Given the description of an element on the screen output the (x, y) to click on. 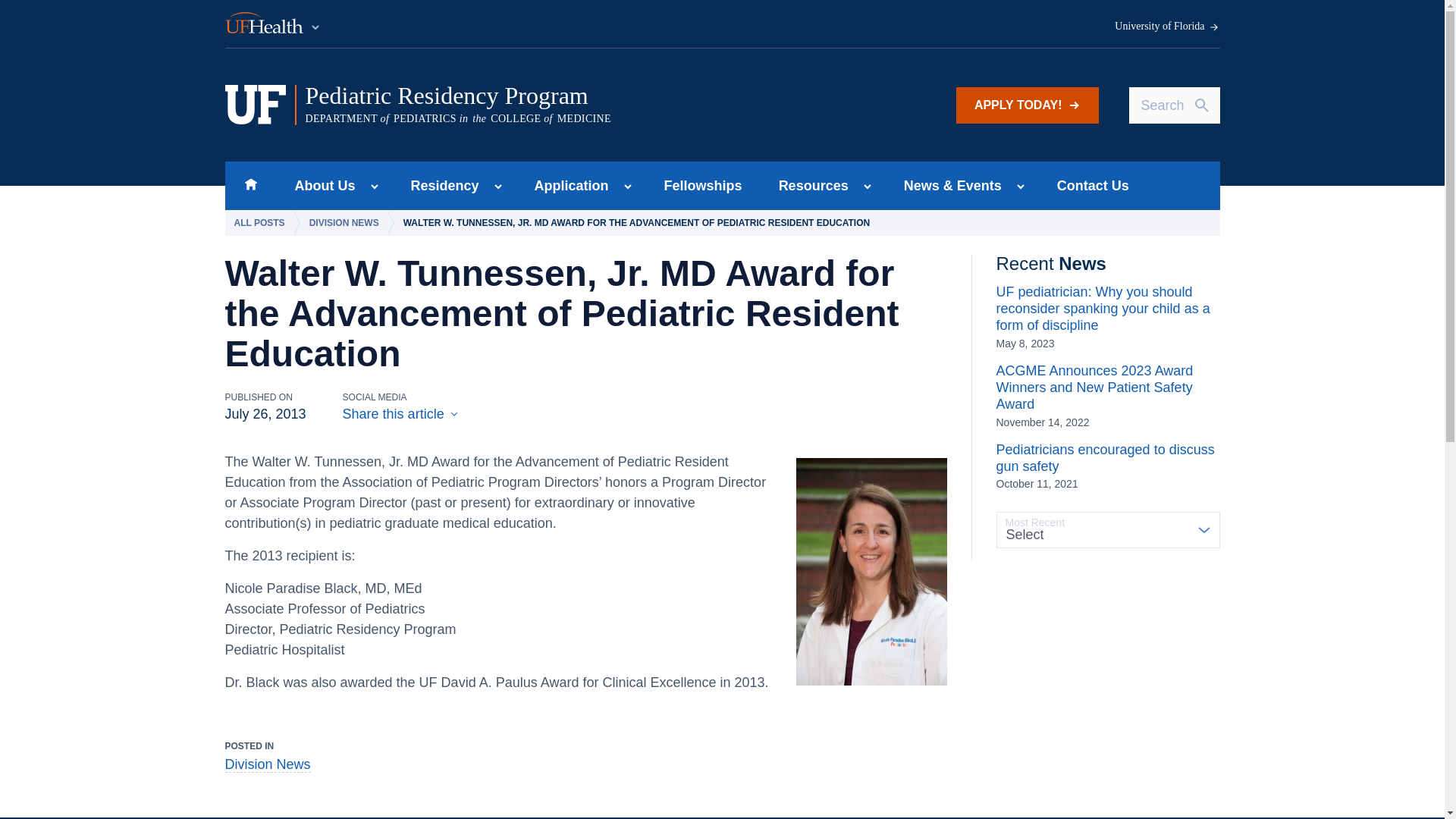
About Us (320, 185)
APPLY TODAY! (1027, 104)
Home (250, 185)
University of Florida (1167, 26)
Residency (440, 185)
UF Health (272, 24)
